Given the description of an element on the screen output the (x, y) to click on. 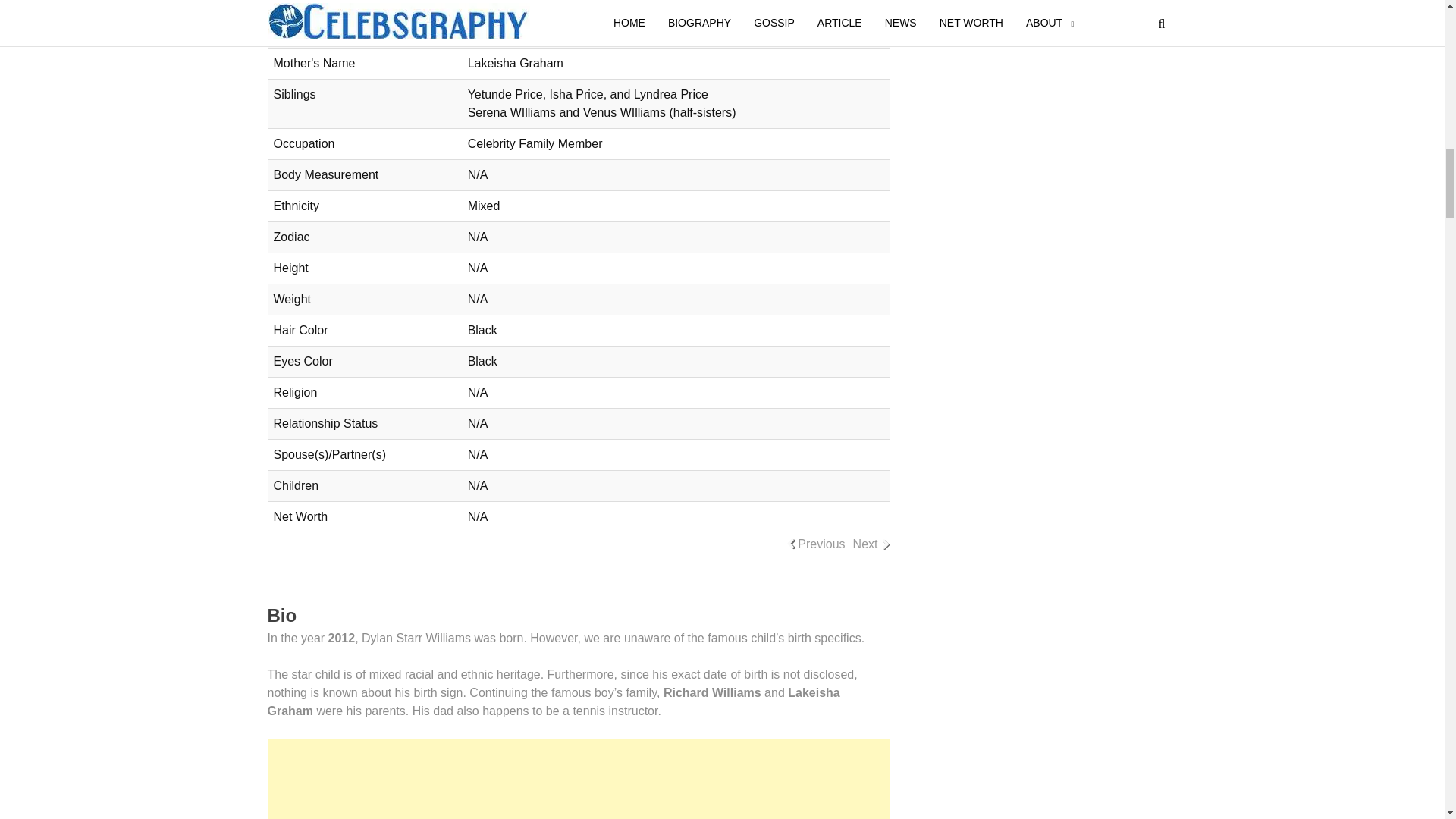
Next (865, 544)
Previous (820, 544)
